Given the description of an element on the screen output the (x, y) to click on. 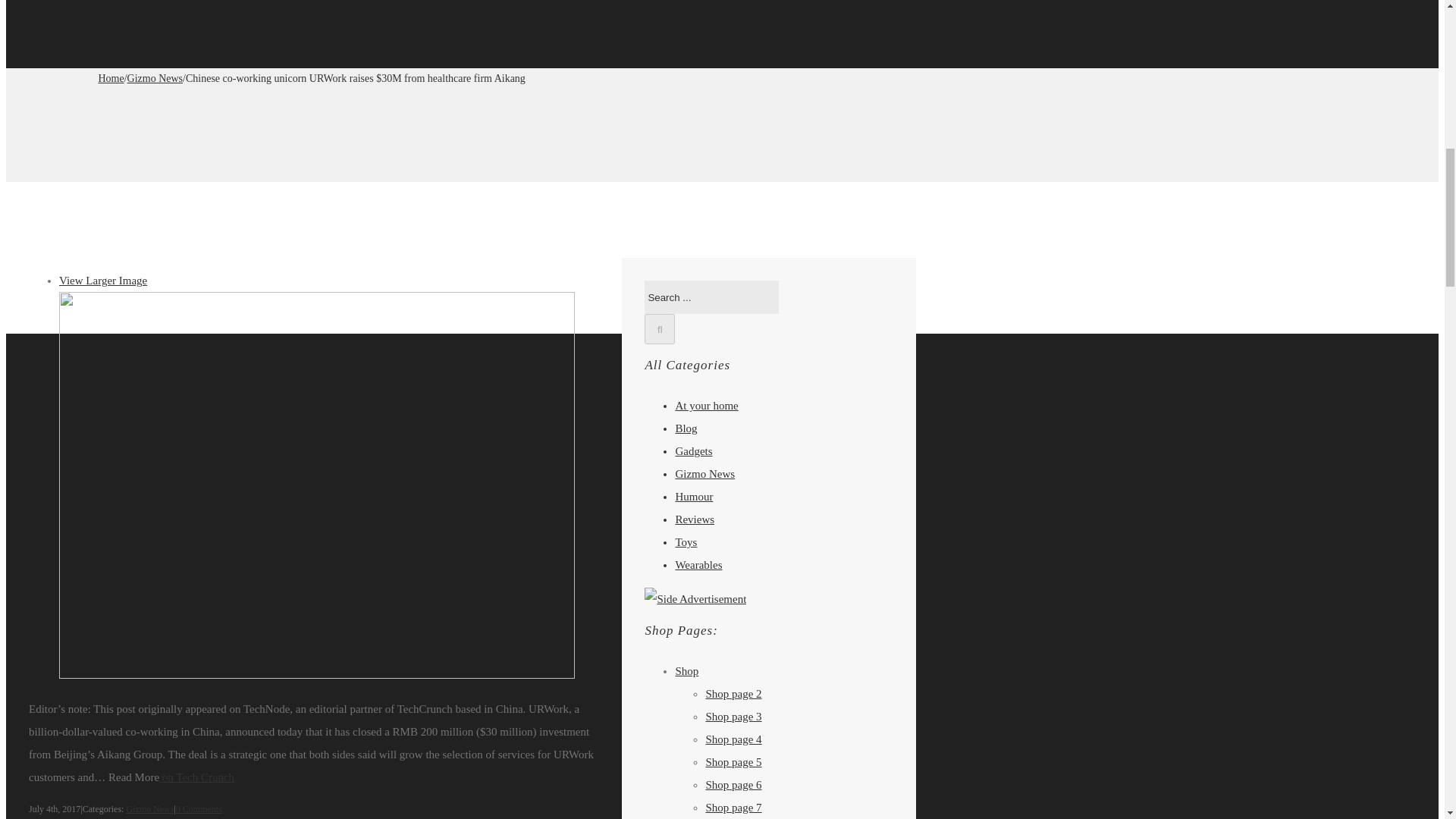
0 Comments (199, 808)
Gizmo News (149, 808)
on Tech Crunch (196, 776)
Gizmo News (155, 78)
Home (110, 78)
